Given the description of an element on the screen output the (x, y) to click on. 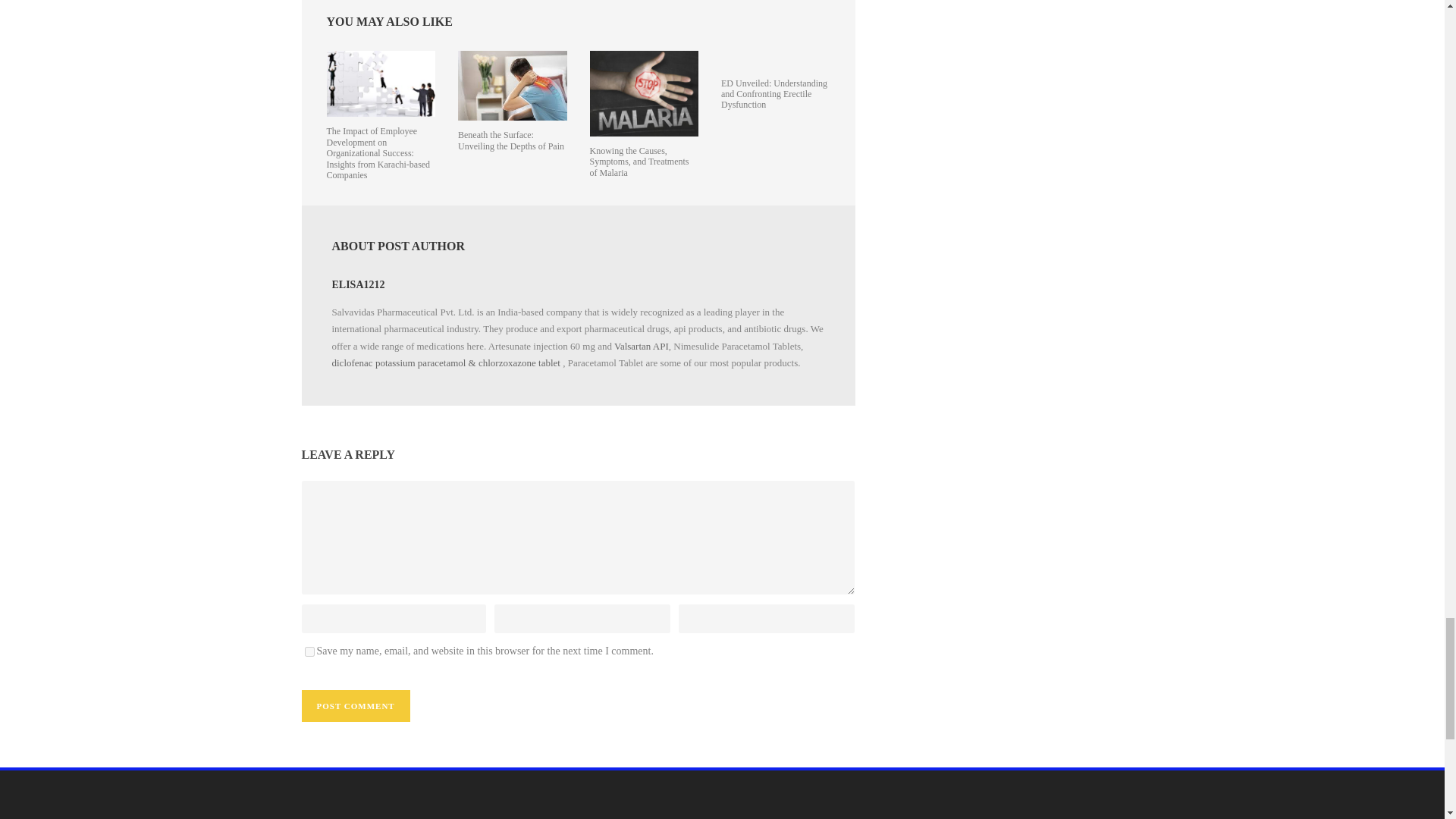
Posts by elisa1212 (358, 284)
yes (309, 651)
Post Comment (355, 705)
